Given the description of an element on the screen output the (x, y) to click on. 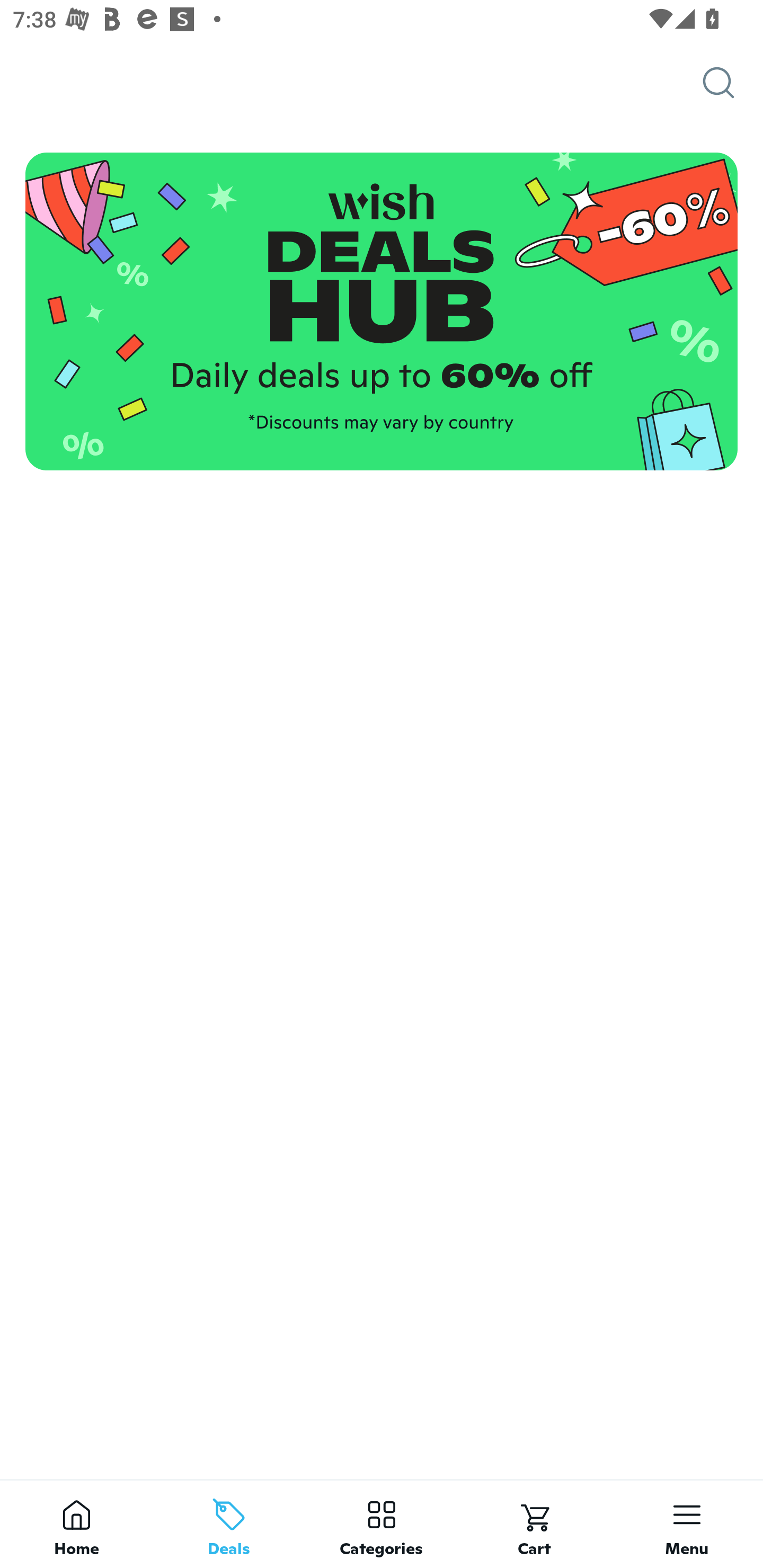
Search (732, 82)
Home (76, 1523)
Deals (228, 1523)
Categories (381, 1523)
Cart (533, 1523)
Menu (686, 1523)
